Given the description of an element on the screen output the (x, y) to click on. 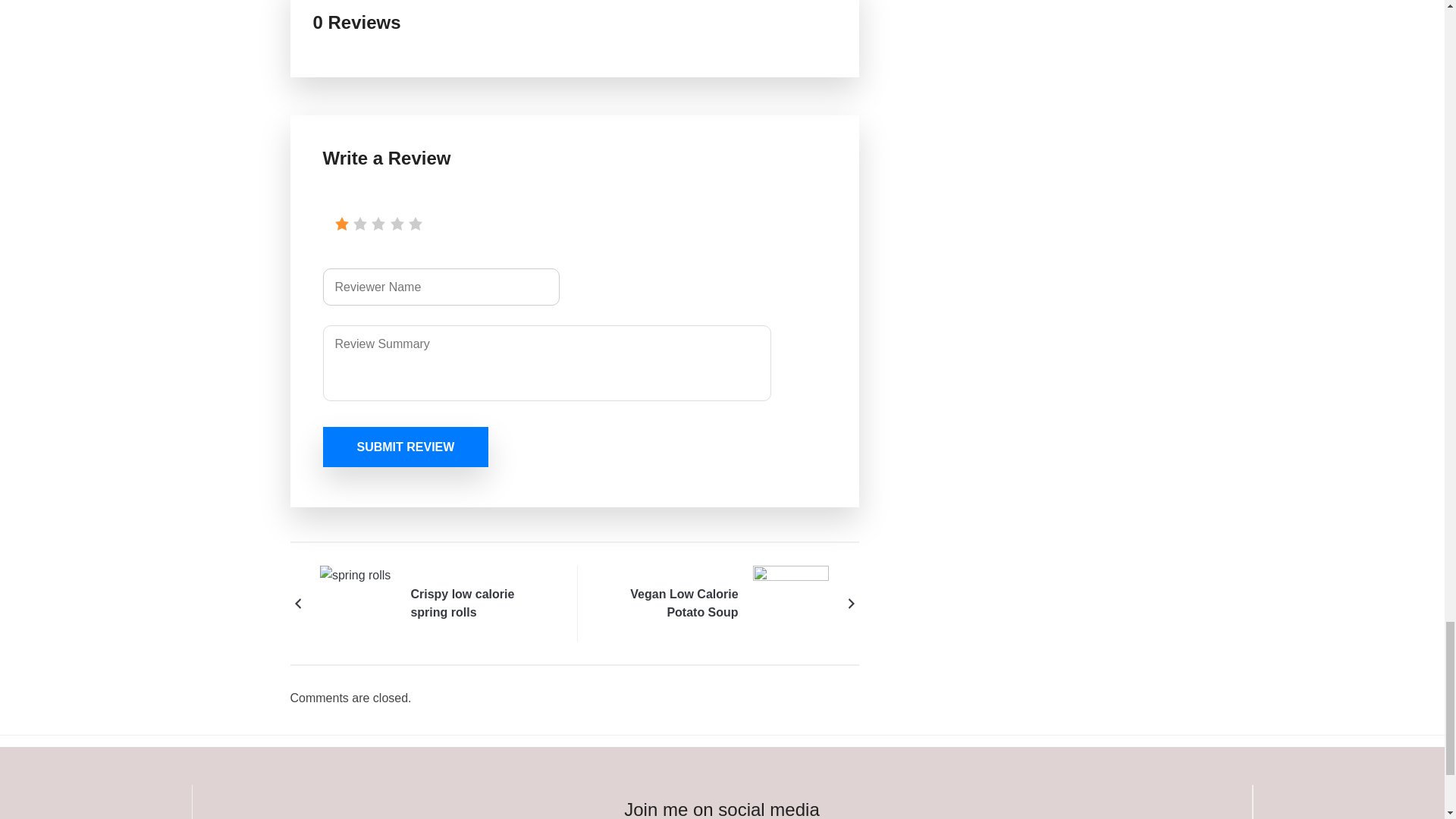
Vegan Low Calorie Potato Soup (667, 603)
Crispy low calorie spring rolls (357, 602)
Crispy low calorie spring rolls (480, 603)
Vegan Low Calorie Potato Soup (790, 602)
